Given the description of an element on the screen output the (x, y) to click on. 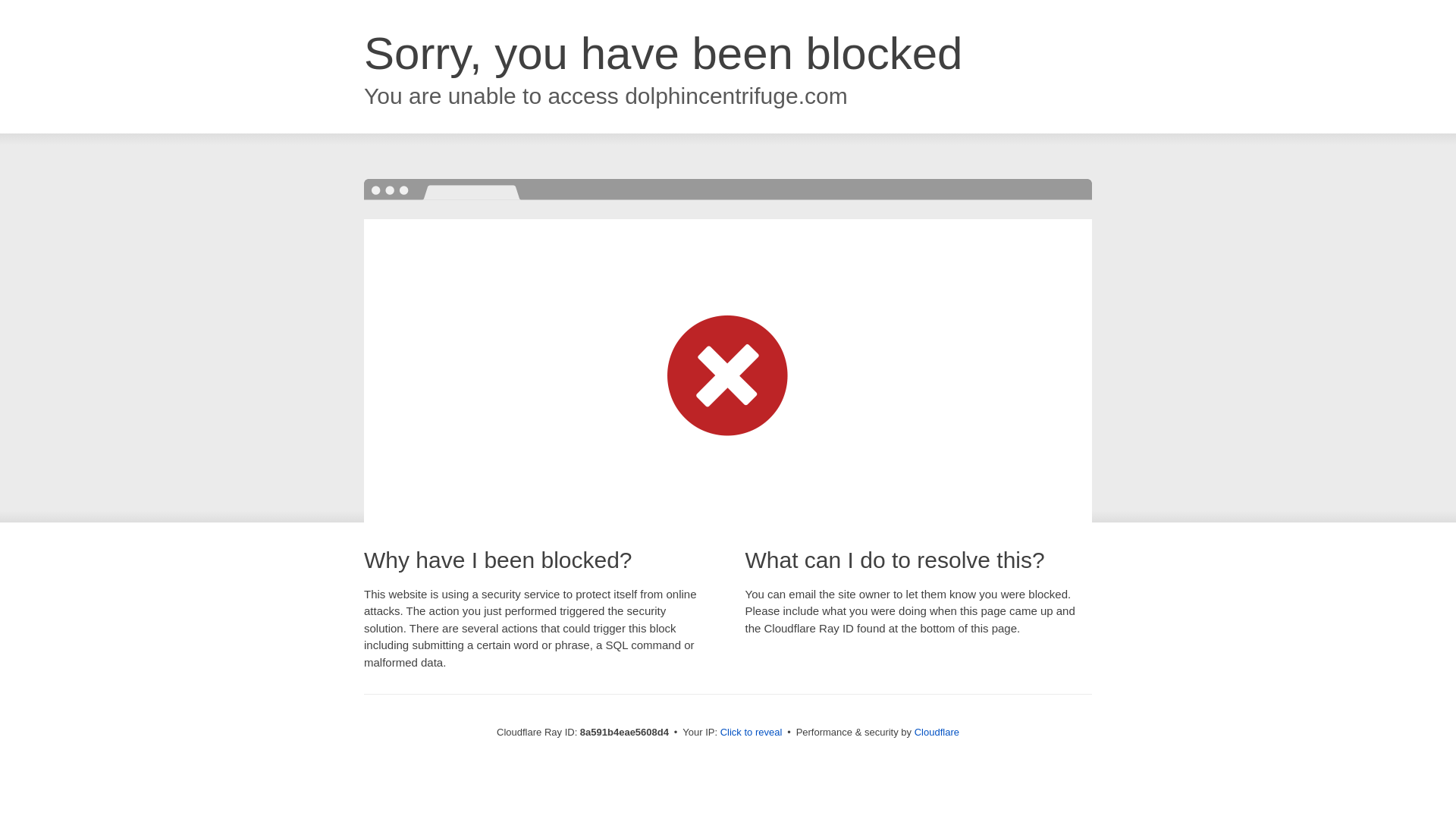
Cloudflare (936, 731)
Click to reveal (751, 732)
